Given the description of an element on the screen output the (x, y) to click on. 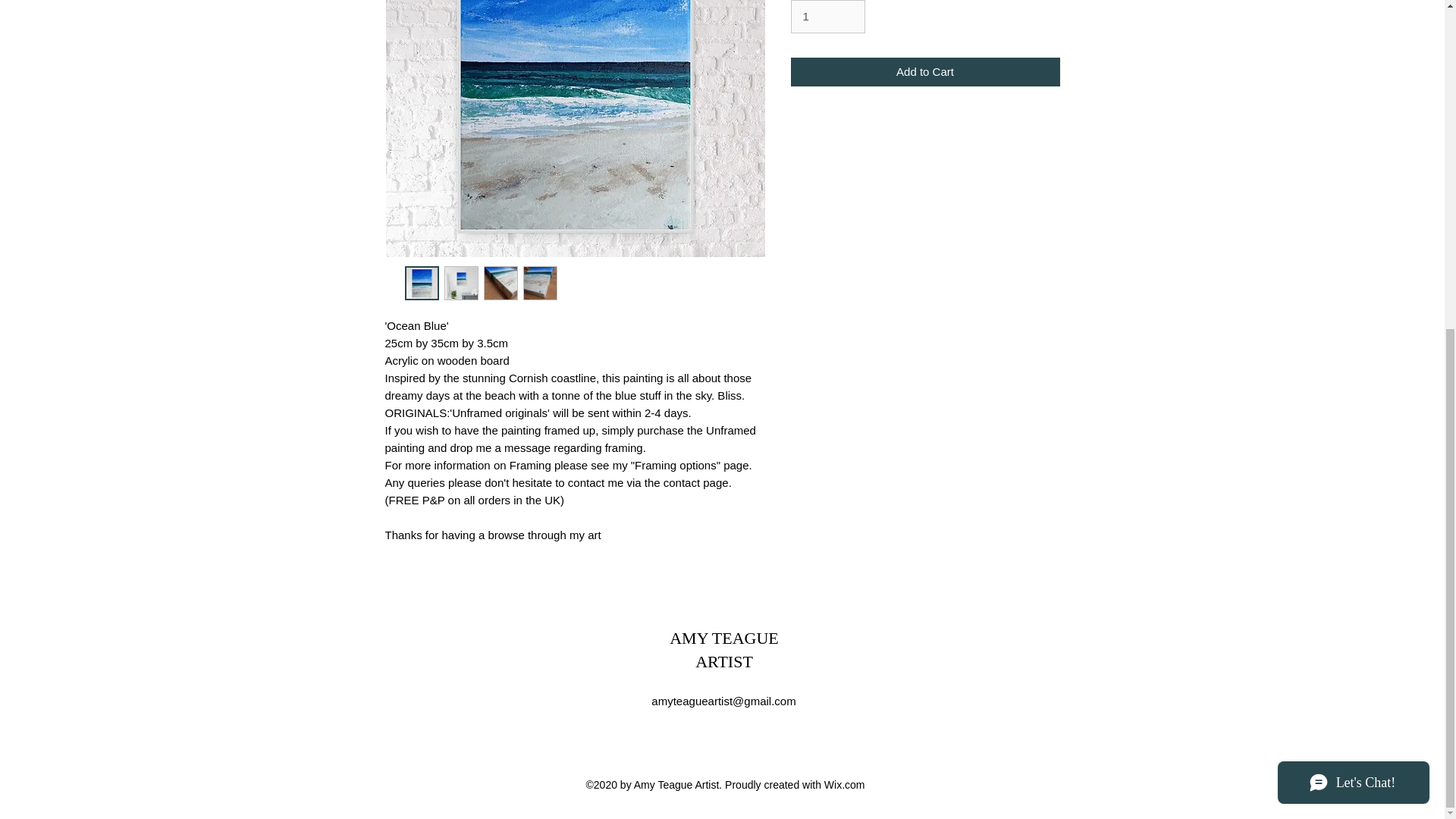
Add to Cart (924, 71)
1 (827, 16)
